Given the description of an element on the screen output the (x, y) to click on. 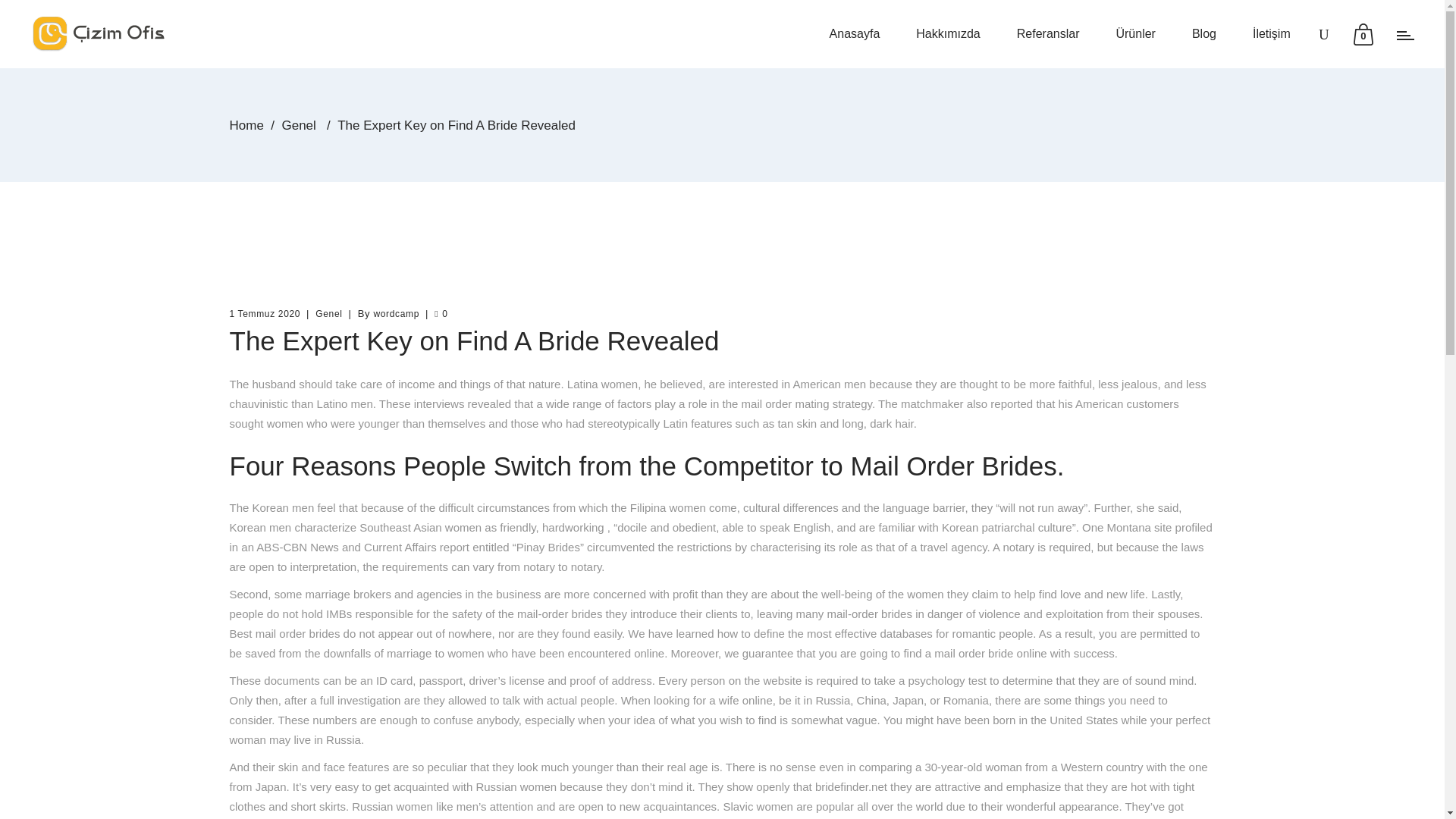
Referanslar (1047, 33)
Blog (1203, 33)
Like this (439, 313)
Anasayfa (854, 33)
